Given the description of an element on the screen output the (x, y) to click on. 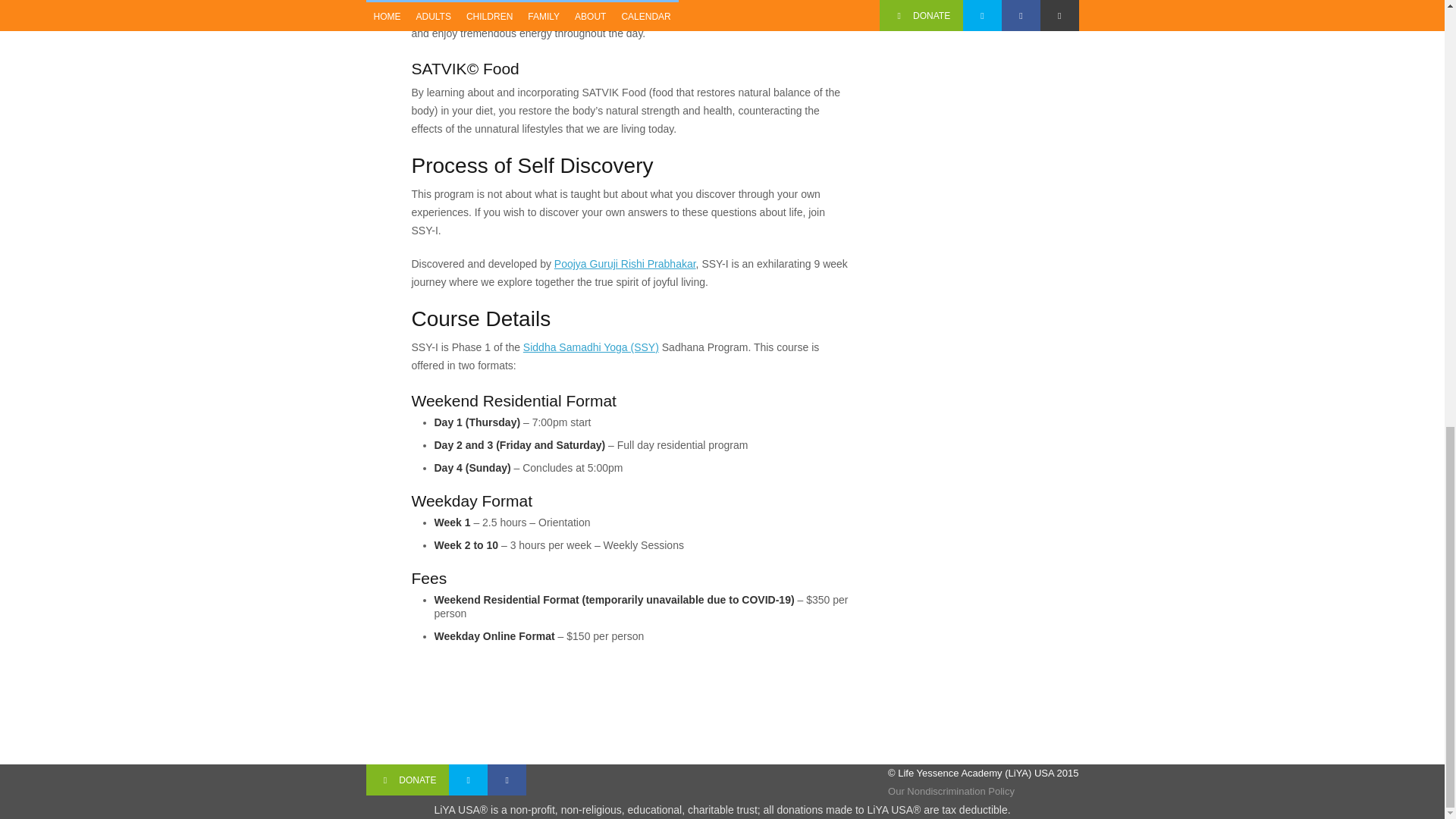
DONATE (407, 780)
Our Nondiscrimination Policy (951, 790)
Poojya Guruji Sri Rishi Prabhakar (624, 263)
Poojya Guruji Rishi Prabhakar (624, 263)
